Given the description of an element on the screen output the (x, y) to click on. 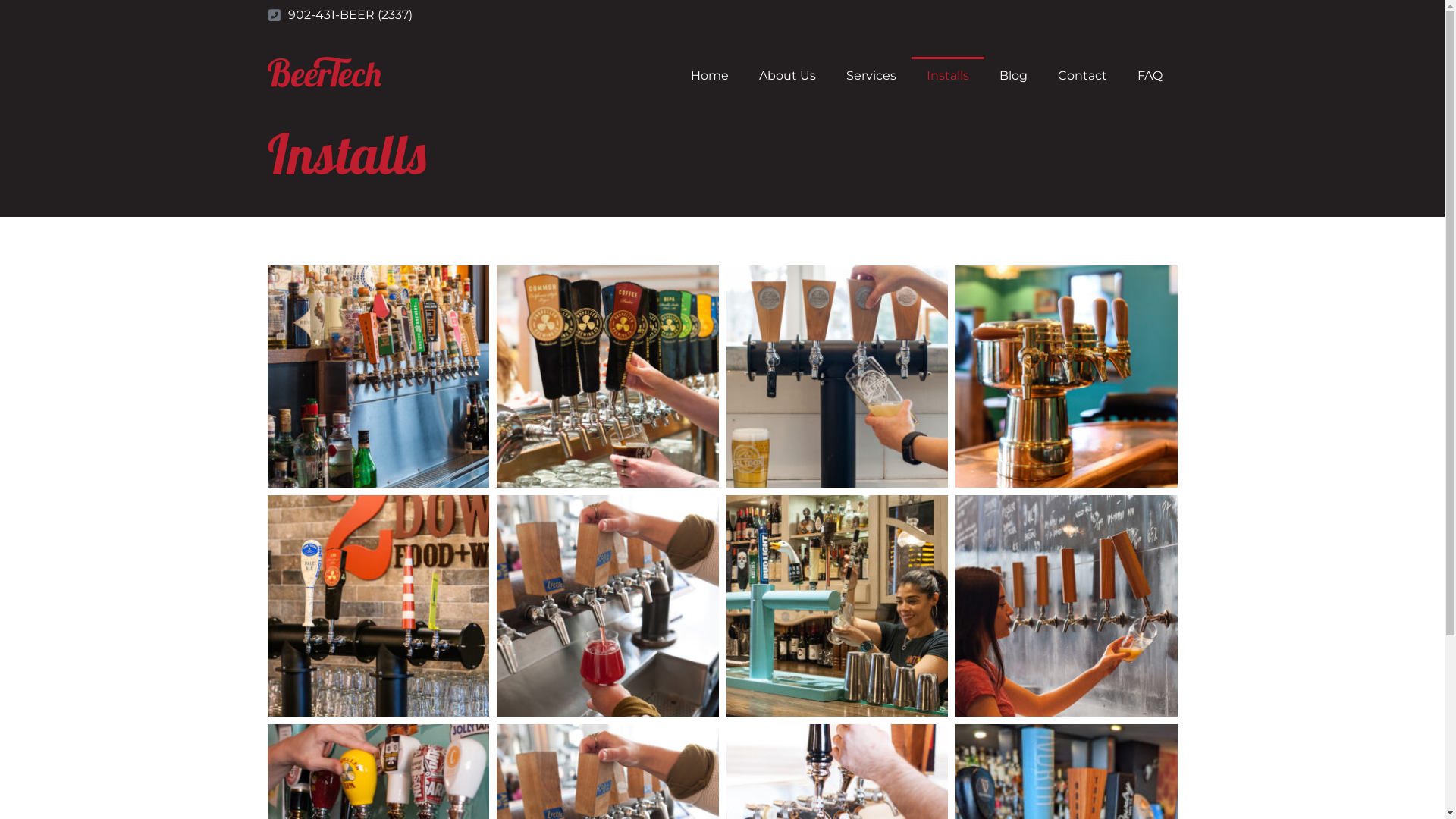
Contact Element type: text (1081, 75)
Home Element type: text (708, 75)
About Us Element type: text (786, 75)
FAQ Element type: text (1149, 75)
Blog Element type: text (1013, 75)
Installs Element type: text (947, 75)
Services Element type: text (871, 75)
